Given the description of an element on the screen output the (x, y) to click on. 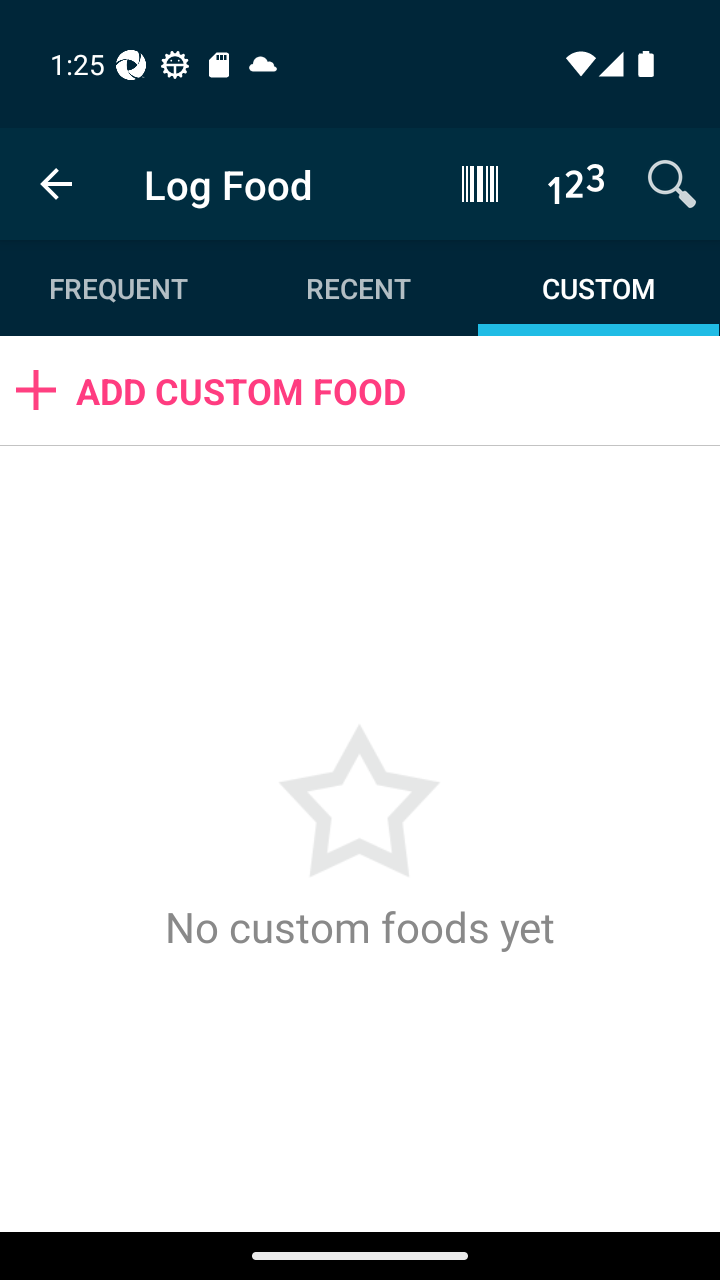
Navigate up (56, 184)
Barcode scanner (479, 183)
Add Quick Calories (575, 183)
Search database (672, 183)
FREQUENT (119, 287)
RECENT (358, 287)
CUSTOM (598, 287)
ADD CUSTOM FOOD (360, 390)
